Given the description of an element on the screen output the (x, y) to click on. 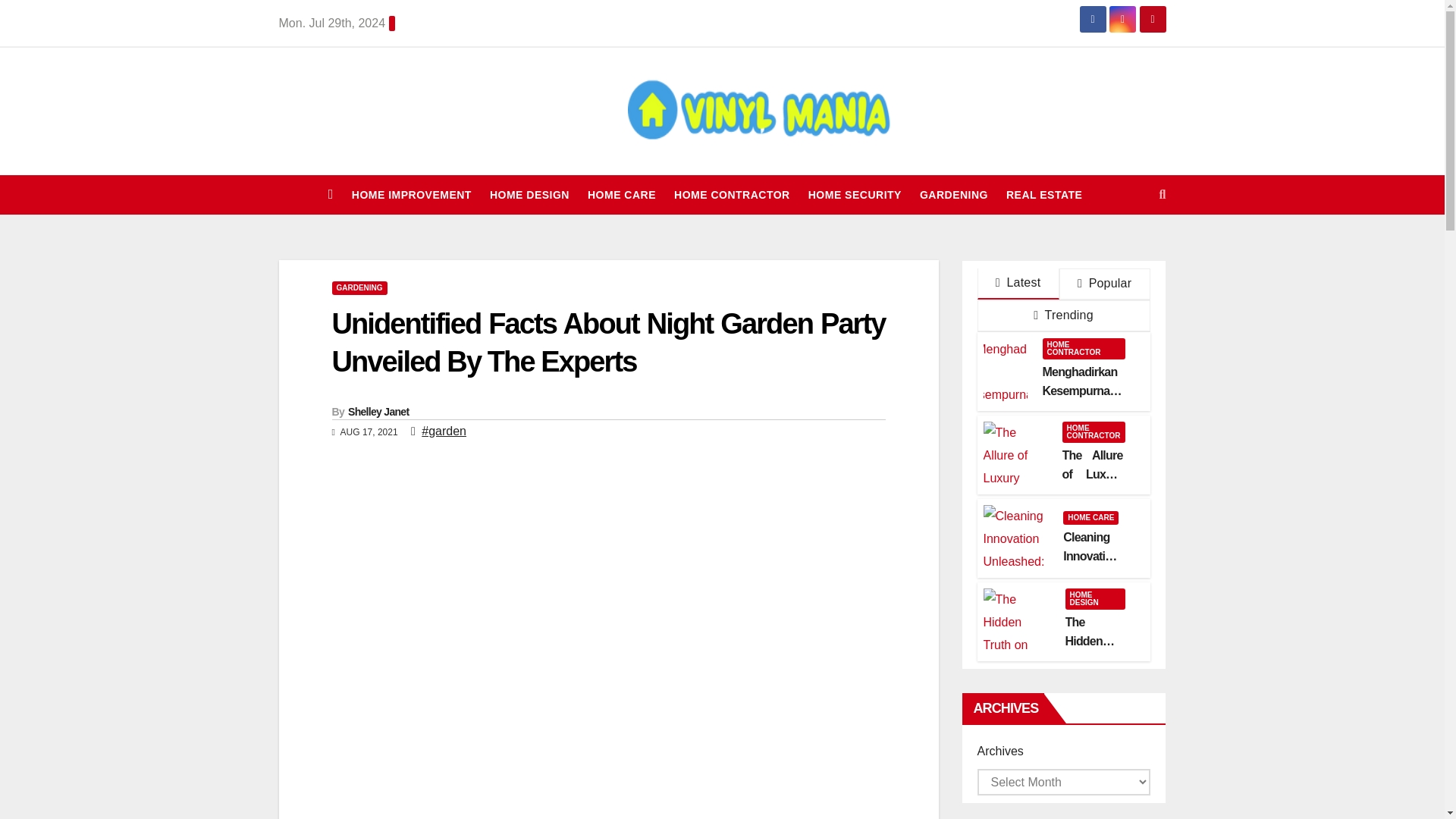
Gardening (953, 194)
HOME CONTRACTOR (732, 194)
Shelley Janet (378, 411)
HOME CARE (621, 194)
HOME DESIGN (529, 194)
GARDENING (359, 287)
REAL ESTATE (1044, 194)
GARDENING (953, 194)
HOME SECURITY (855, 194)
HOME IMPROVEMENT (410, 194)
Home Design (529, 194)
Home Care (621, 194)
